Given the description of an element on the screen output the (x, y) to click on. 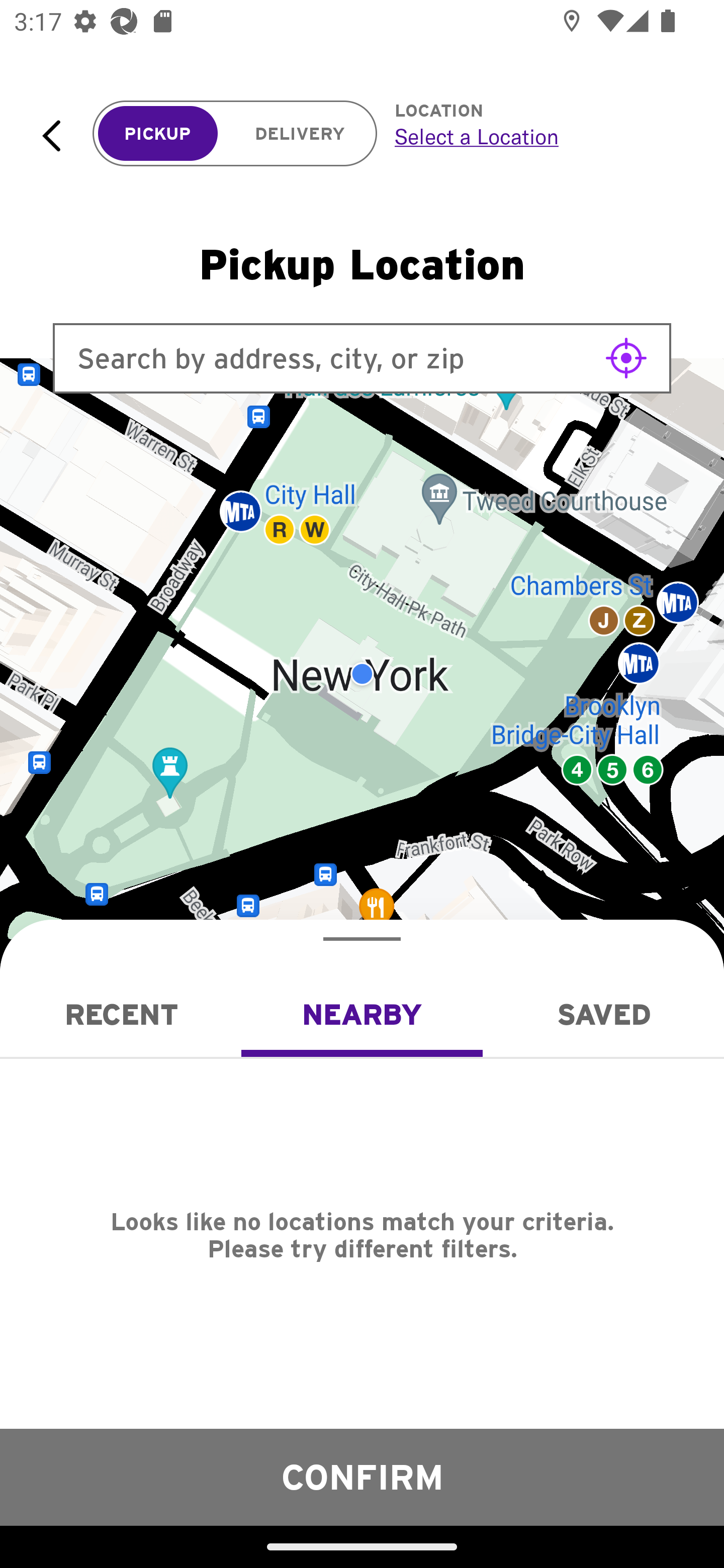
PICKUP (157, 133)
DELIVERY (299, 133)
Select a Location (536, 136)
Search by address, city, or zip (361, 358)
Google Map (362, 674)
Recent RECENT (120, 1014)
Saved SAVED (603, 1014)
CONFIRM (362, 1476)
